Given the description of an element on the screen output the (x, y) to click on. 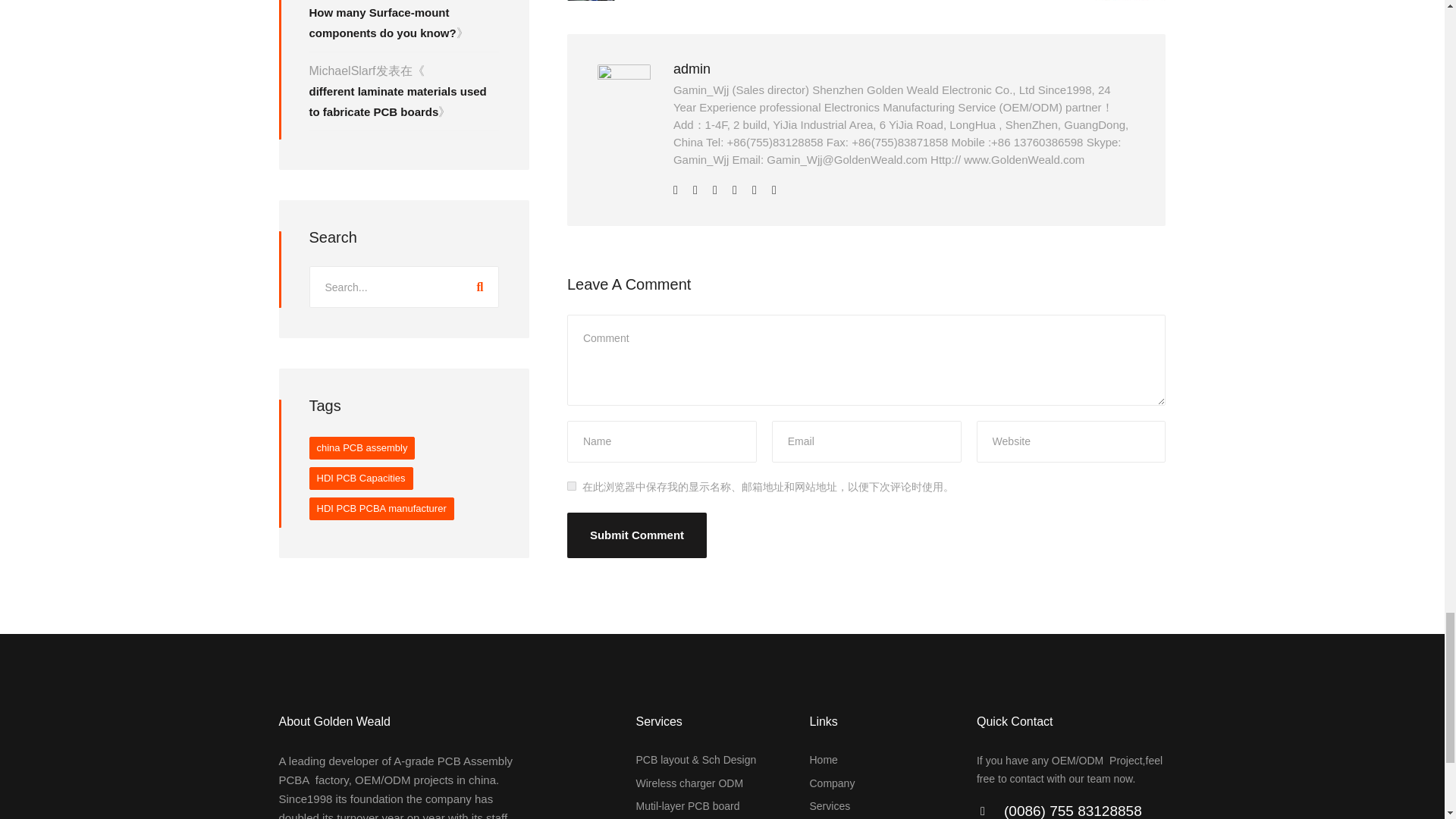
China PCBA, PCB Assembly in china! (823, 759)
Submit Comment (636, 534)
